Given the description of an element on the screen output the (x, y) to click on. 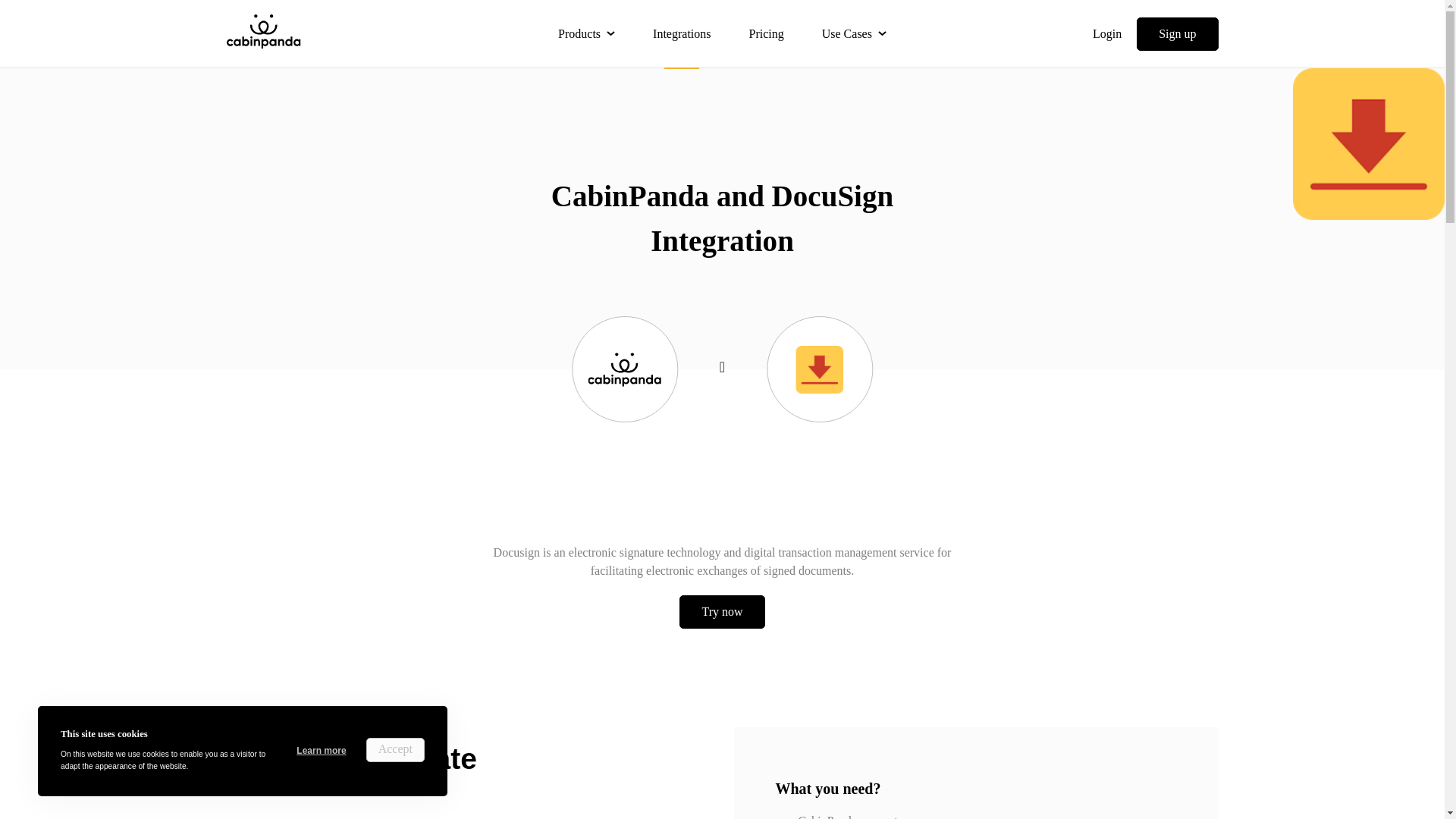
CabinPanda (262, 33)
Login (1107, 33)
Learn more (321, 750)
CabinPanda (262, 30)
Sign up (1177, 32)
Accept (395, 749)
Try now (721, 611)
